Given the description of an element on the screen output the (x, y) to click on. 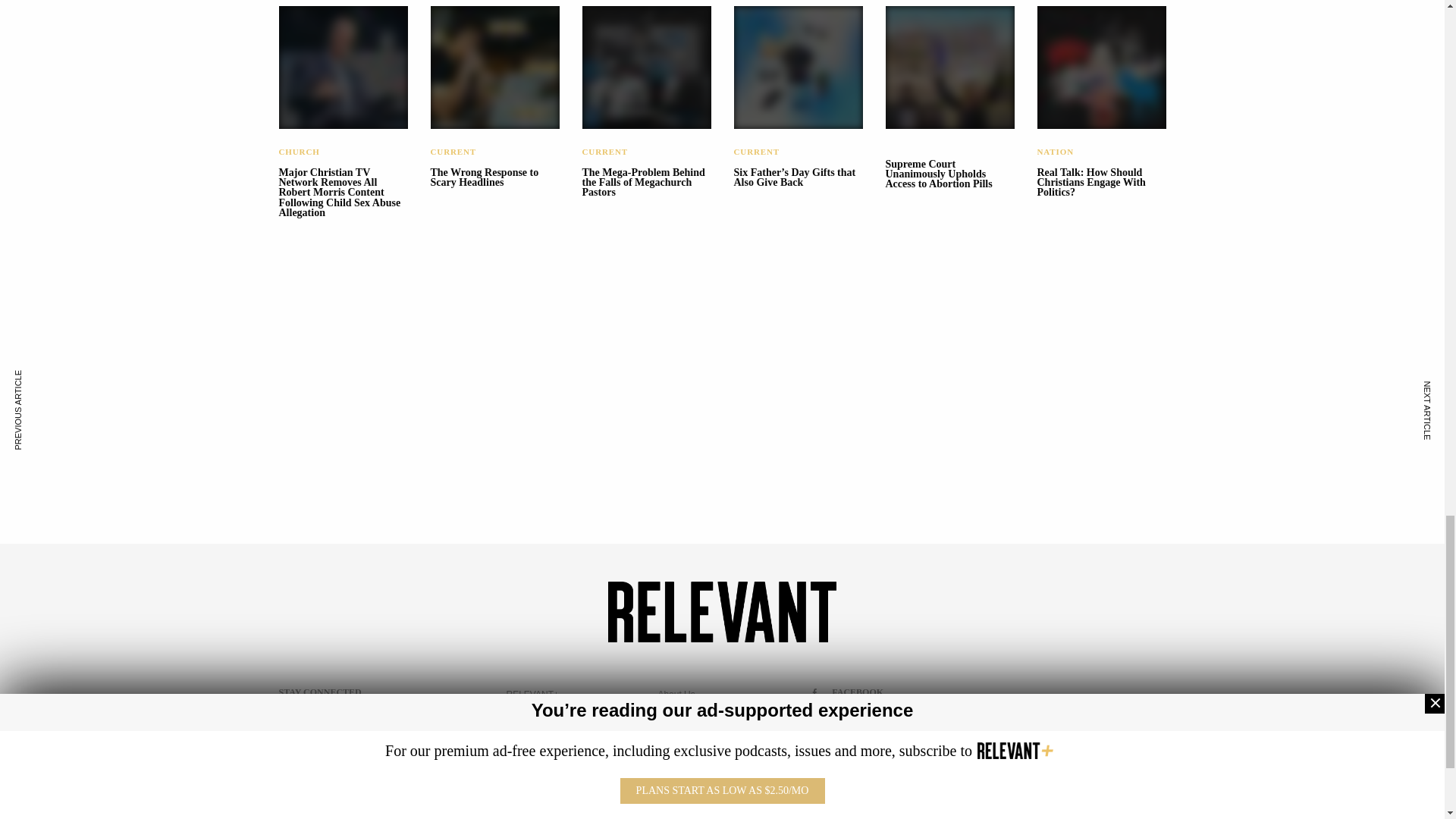
Subscribe (381, 789)
